Given the description of an element on the screen output the (x, y) to click on. 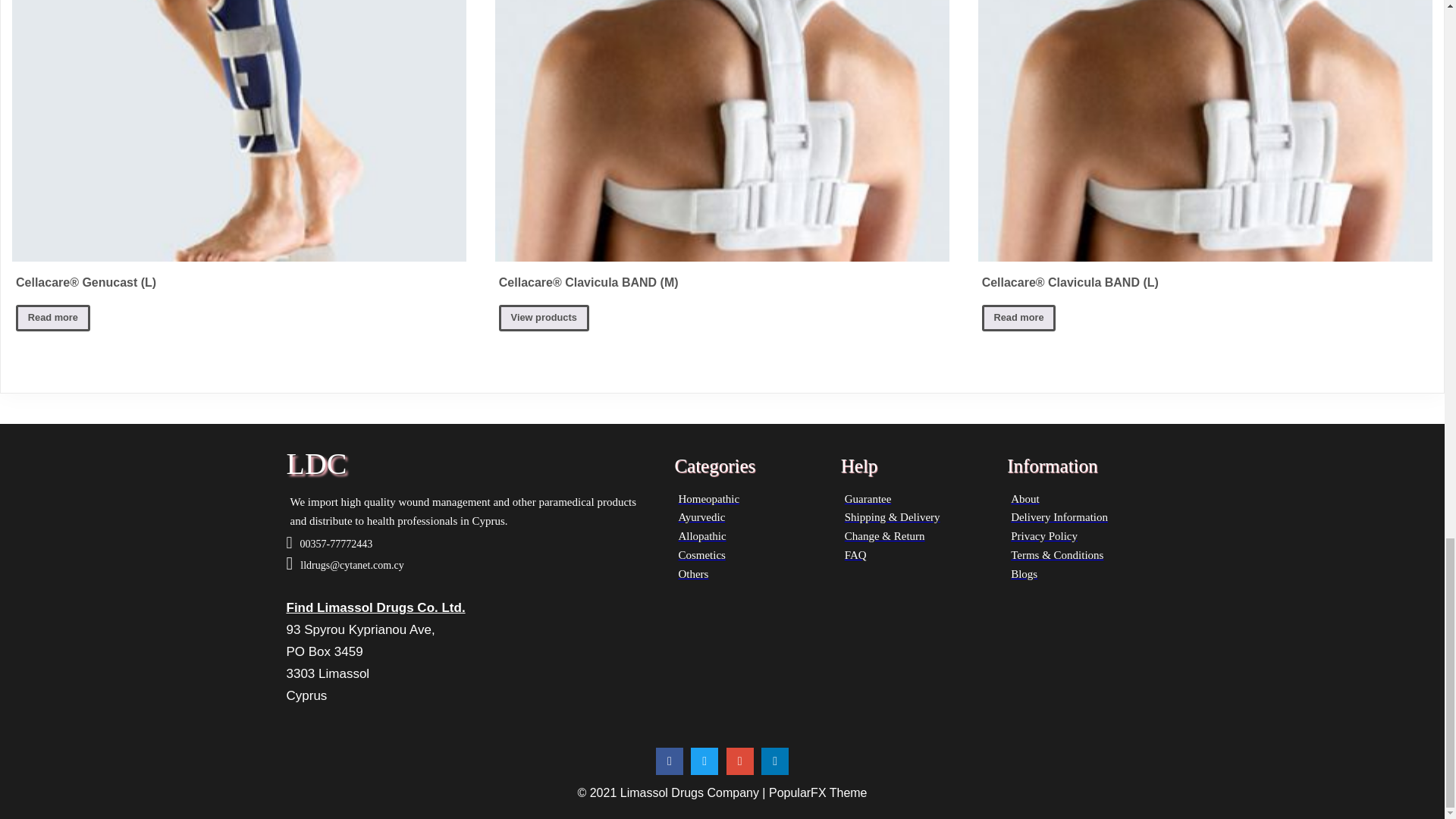
Cosmetics (749, 555)
Read more (53, 317)
Homeopathic (749, 498)
Allopathic (749, 536)
View products (544, 317)
Guarantee (916, 498)
Read more (1019, 317)
Others (749, 573)
LDC (472, 463)
Ayurvedic (749, 517)
